Given the description of an element on the screen output the (x, y) to click on. 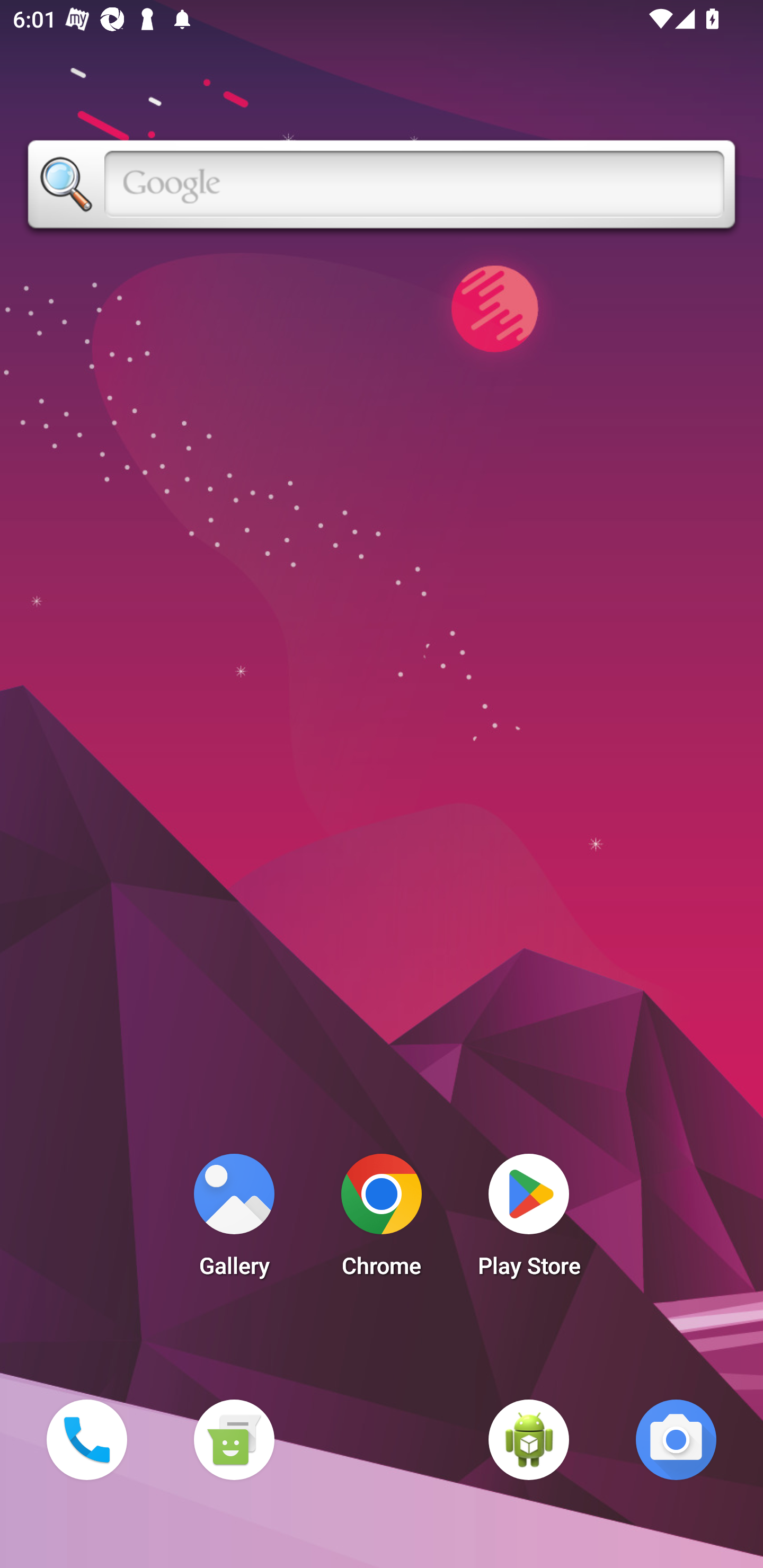
Gallery (233, 1220)
Chrome (381, 1220)
Play Store (528, 1220)
Phone (86, 1439)
Messaging (233, 1439)
WebView Browser Tester (528, 1439)
Camera (676, 1439)
